Given the description of an element on the screen output the (x, y) to click on. 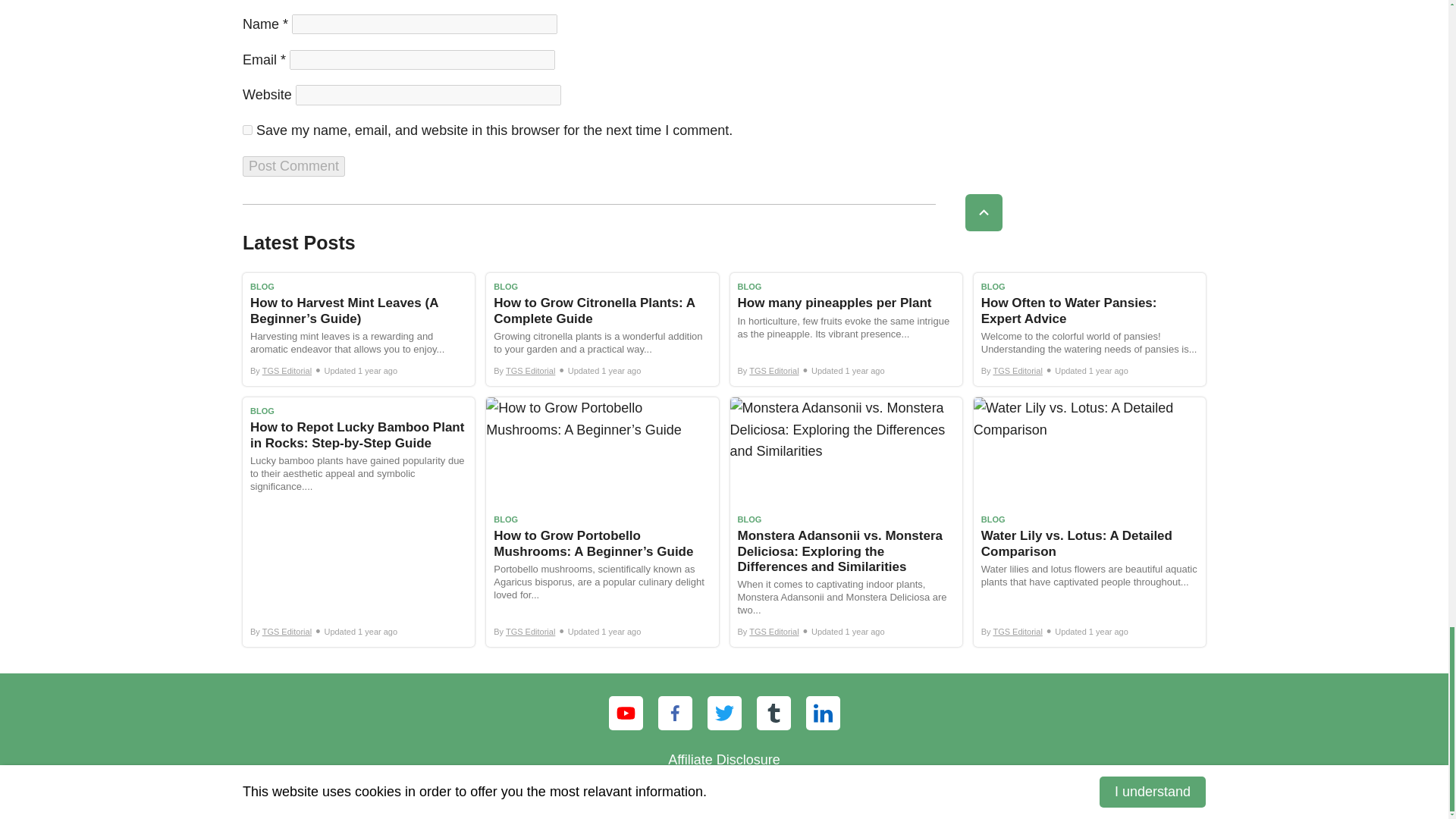
Permanent Link to How Often to Water Pansies: Expert Advice (1089, 328)
Post Comment (294, 166)
Permanent Link to How many pineapples per Plant (844, 328)
yes (247, 130)
